Given the description of an element on the screen output the (x, y) to click on. 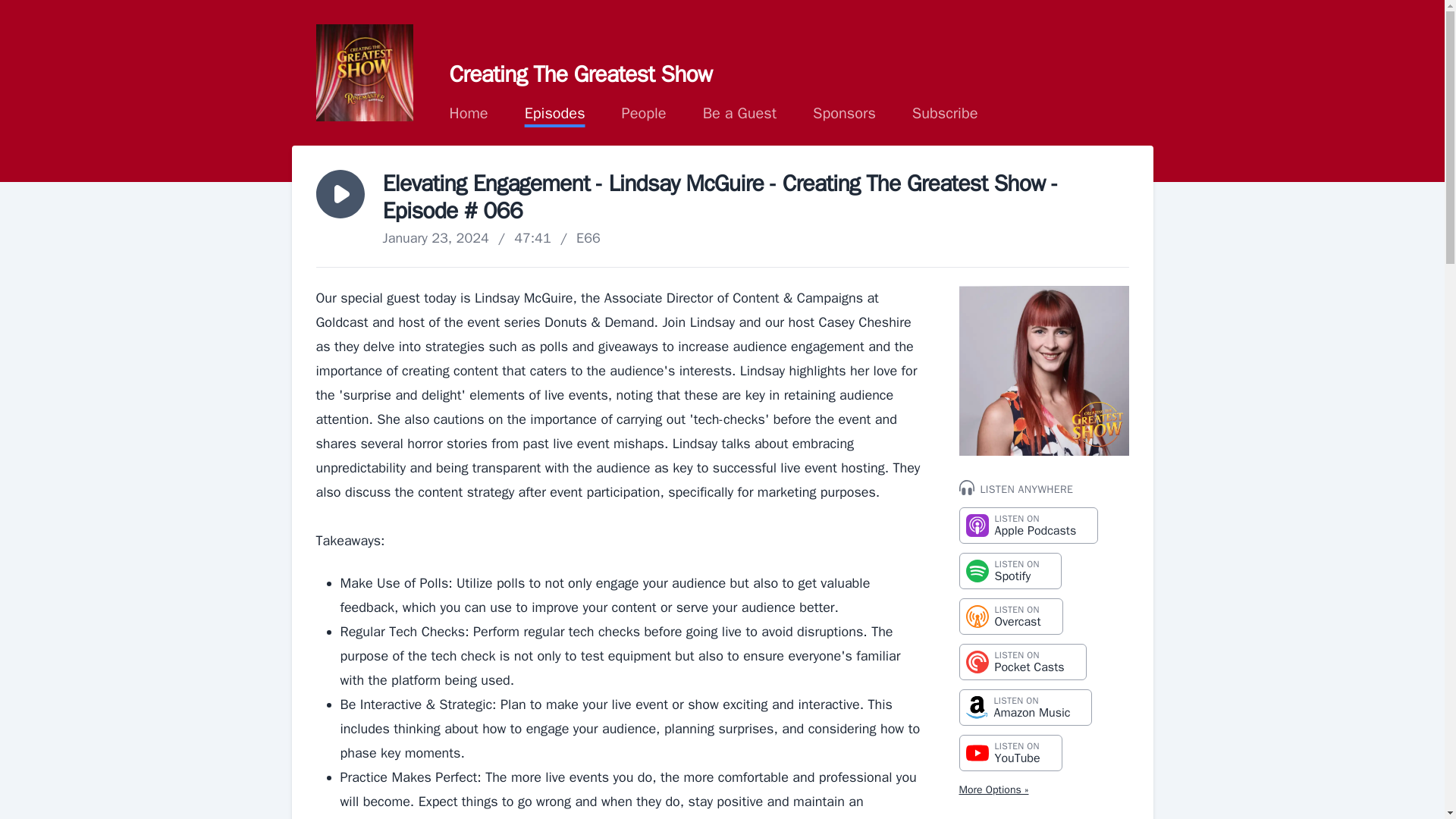
Play Episode (339, 193)
Home (1022, 661)
Home (1025, 707)
People (467, 113)
Episodes (1027, 524)
Episodes (467, 113)
People (643, 113)
Home (554, 113)
Sponsors (554, 113)
Subscribe (1009, 570)
Be a Guest (643, 113)
